Given the description of an element on the screen output the (x, y) to click on. 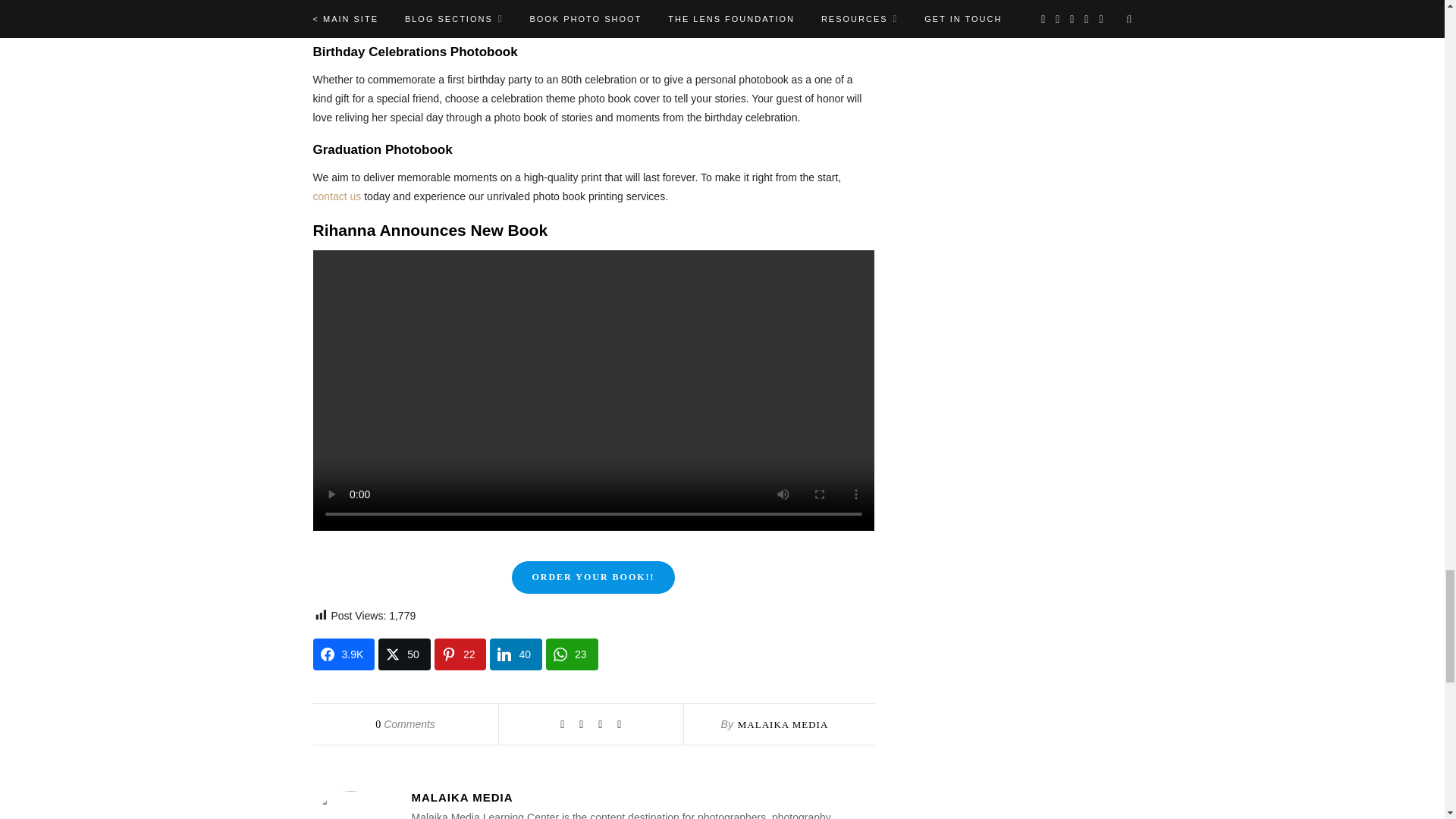
Share on Twitter (404, 654)
Share on Facebook (343, 654)
Posts by Malaika Media (783, 724)
Share on WhatsApp (572, 654)
Share on Pinterest (459, 654)
Posts by Malaika Media (641, 797)
Share on LinkedIn (515, 654)
